Given the description of an element on the screen output the (x, y) to click on. 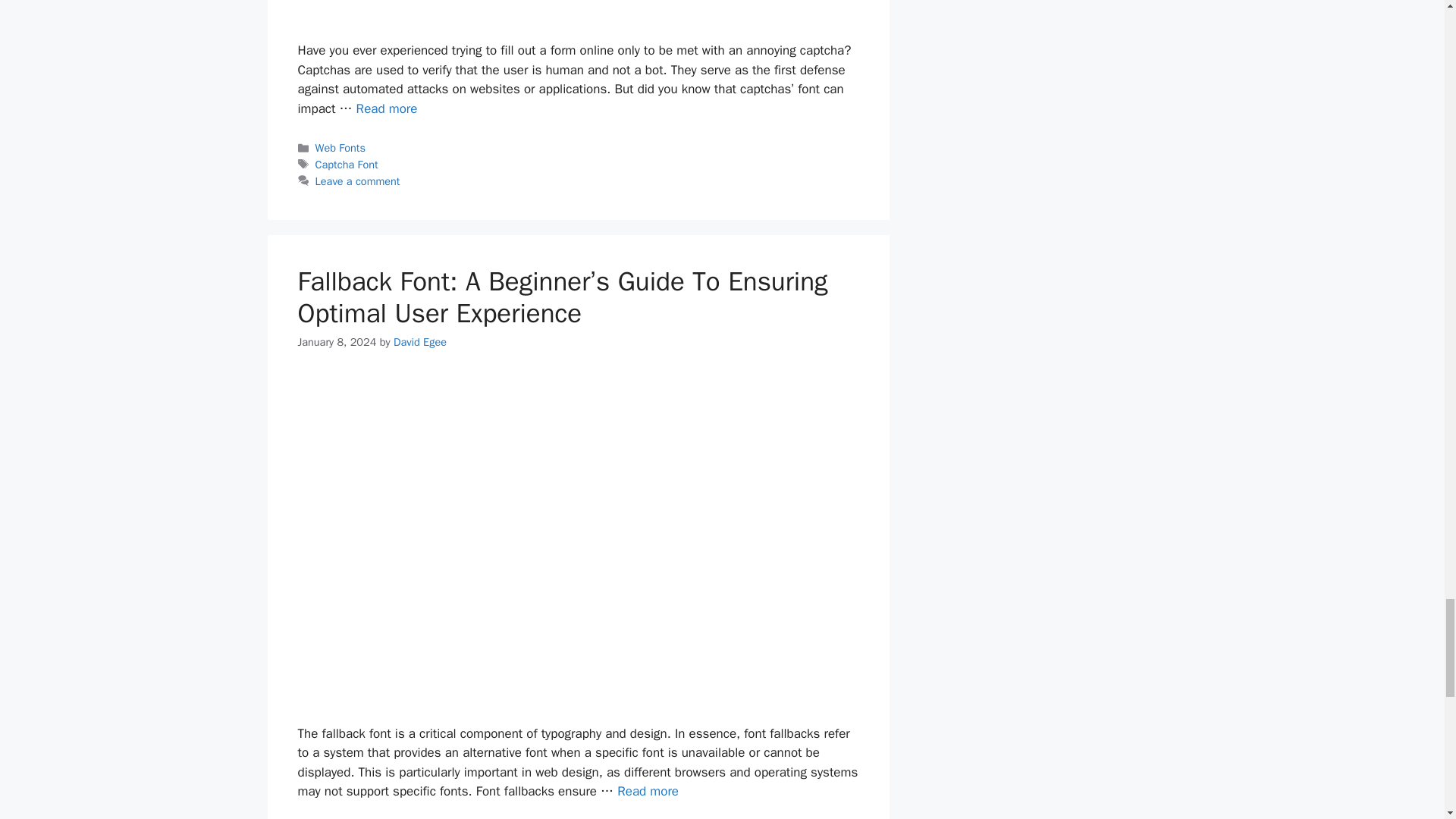
The Impact Of Captcha Font On User Experience And Security (386, 108)
View all posts by David Egee (419, 341)
